Given the description of an element on the screen output the (x, y) to click on. 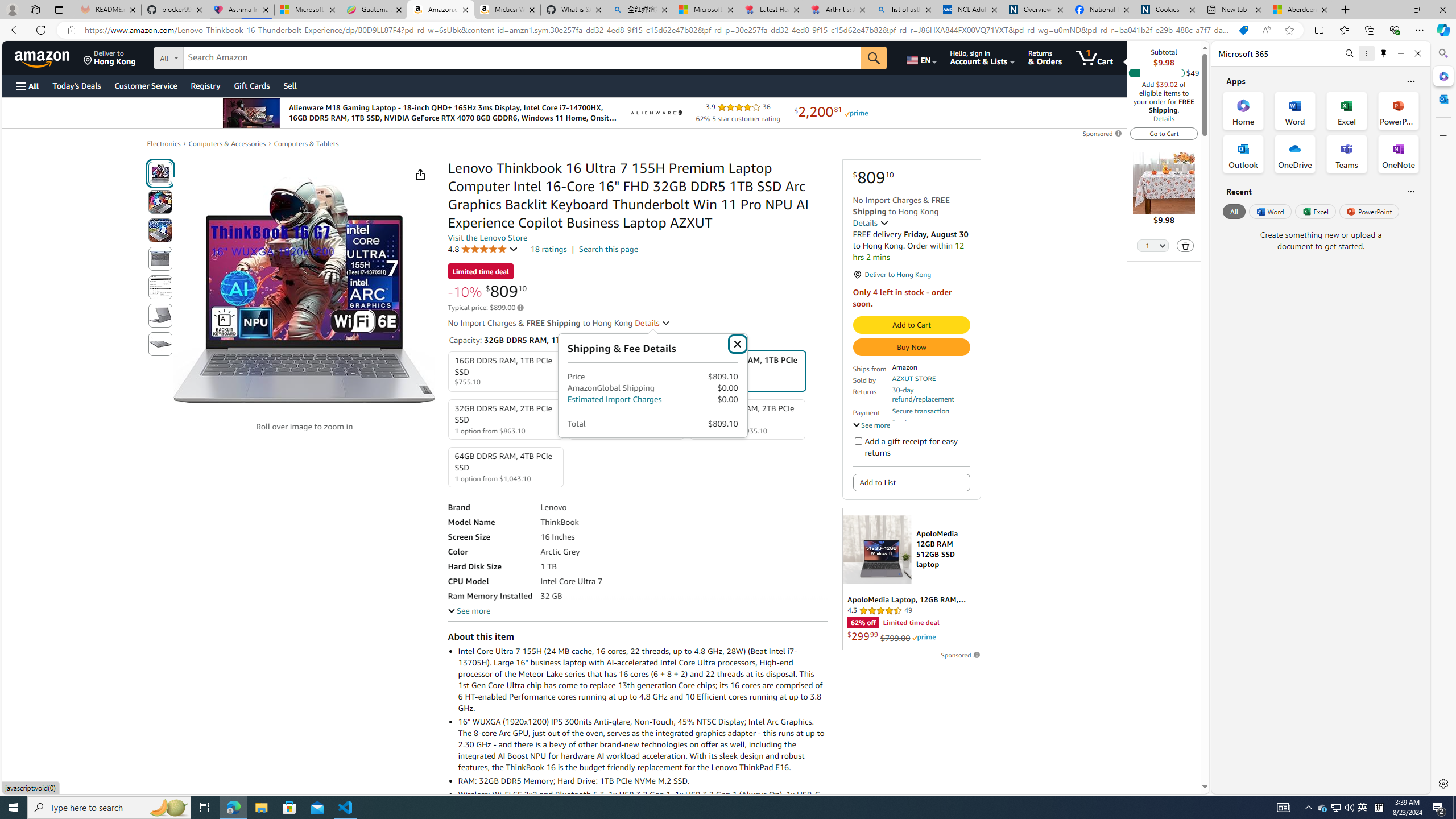
Sponsored ad (911, 578)
OneNote Office App (1398, 154)
Cookies | About | NICE (1167, 9)
Computers & Accessories (226, 143)
Visit the Lenovo Store (486, 237)
Add to Cart (911, 324)
32GB DDR5 RAM, 2TB PCIe SSD 1 option from $863.10 (505, 418)
